Given the description of an element on the screen output the (x, y) to click on. 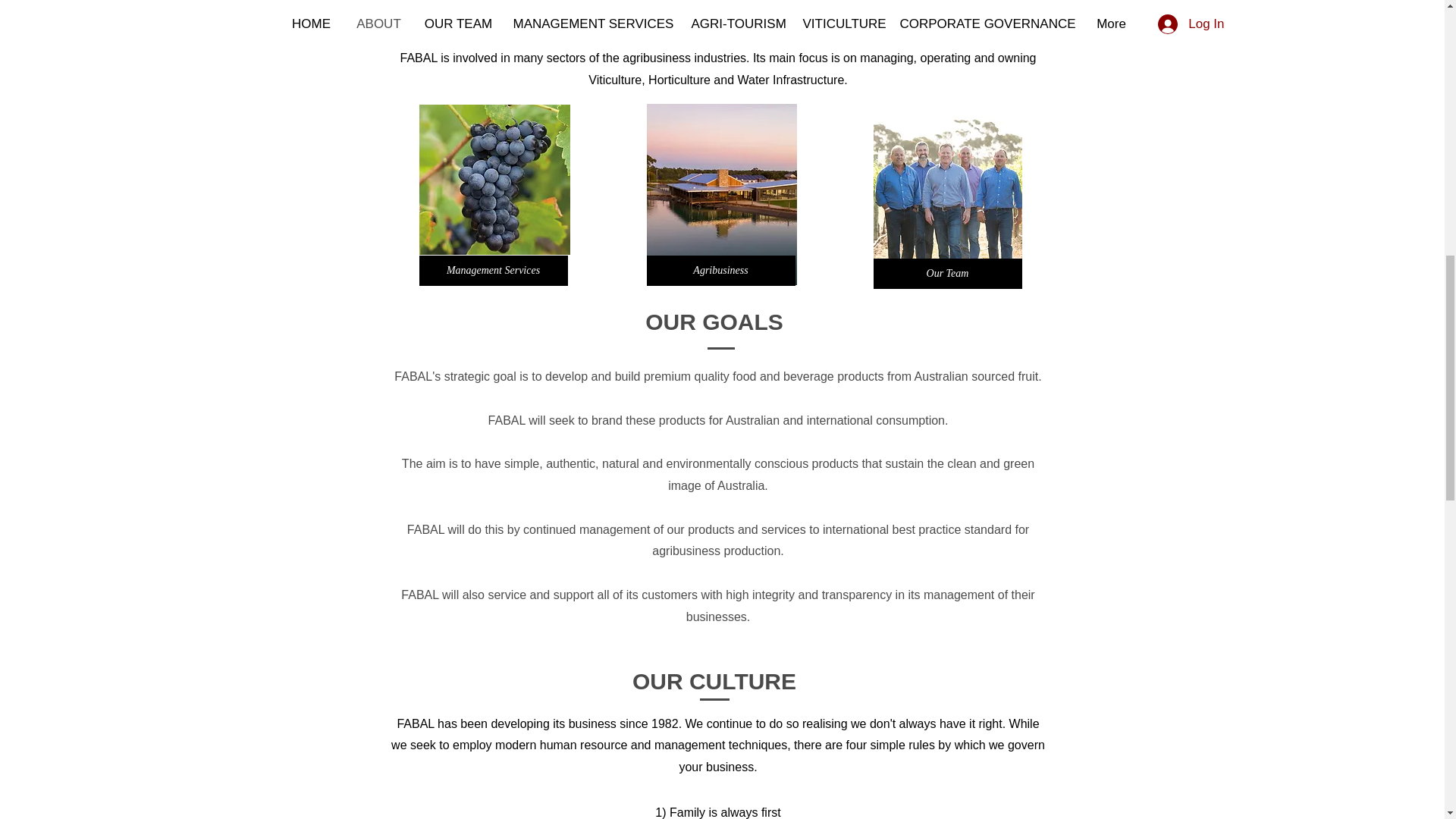
Our Team (947, 273)
Management Services (493, 270)
Agribusiness (720, 270)
